Given the description of an element on the screen output the (x, y) to click on. 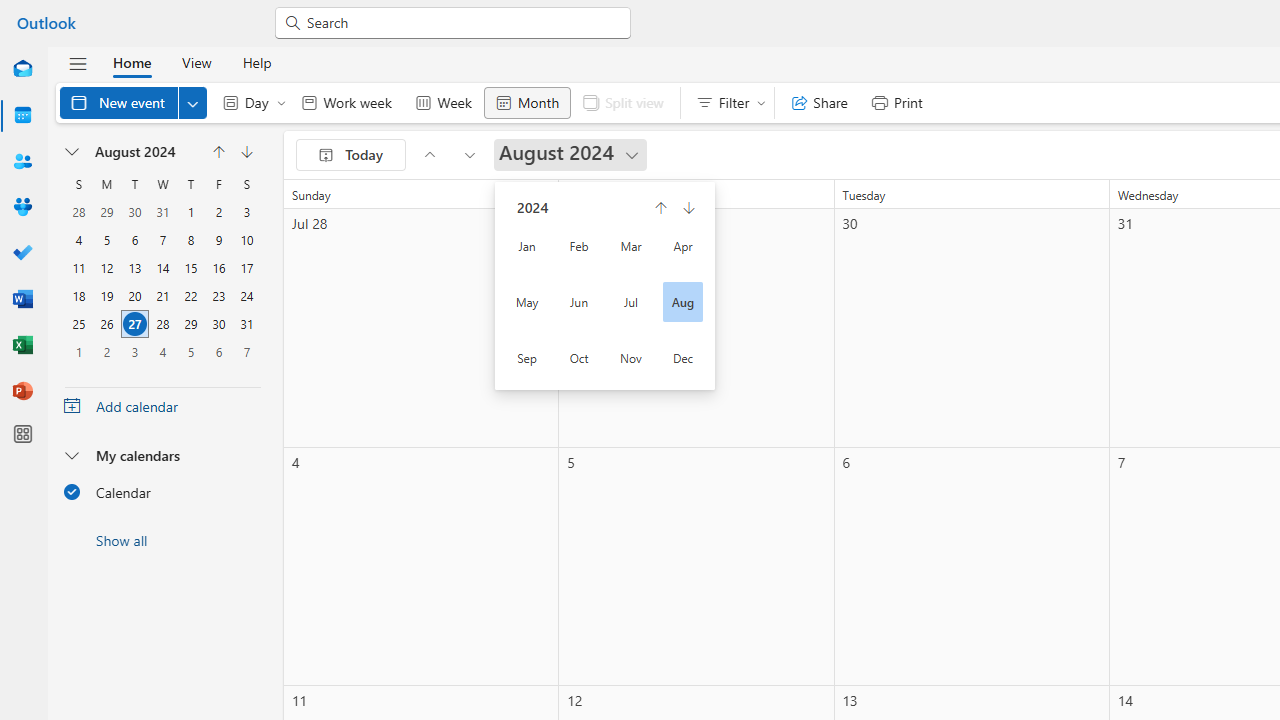
My calendarsCalendar (162, 479)
13, August, 2024 (134, 268)
2, August, 2024 (218, 211)
3, August, 2024 (246, 211)
14, August, 2024 (163, 268)
5, August, 2024 (106, 239)
Tuesday (134, 183)
6, August, 2024 (134, 239)
24, August, 2024 (246, 295)
29, July, 2024 (106, 211)
Saturday (246, 183)
31, August, 2024 (246, 323)
Help (256, 61)
26, August, 2024 (106, 323)
